Given the description of an element on the screen output the (x, y) to click on. 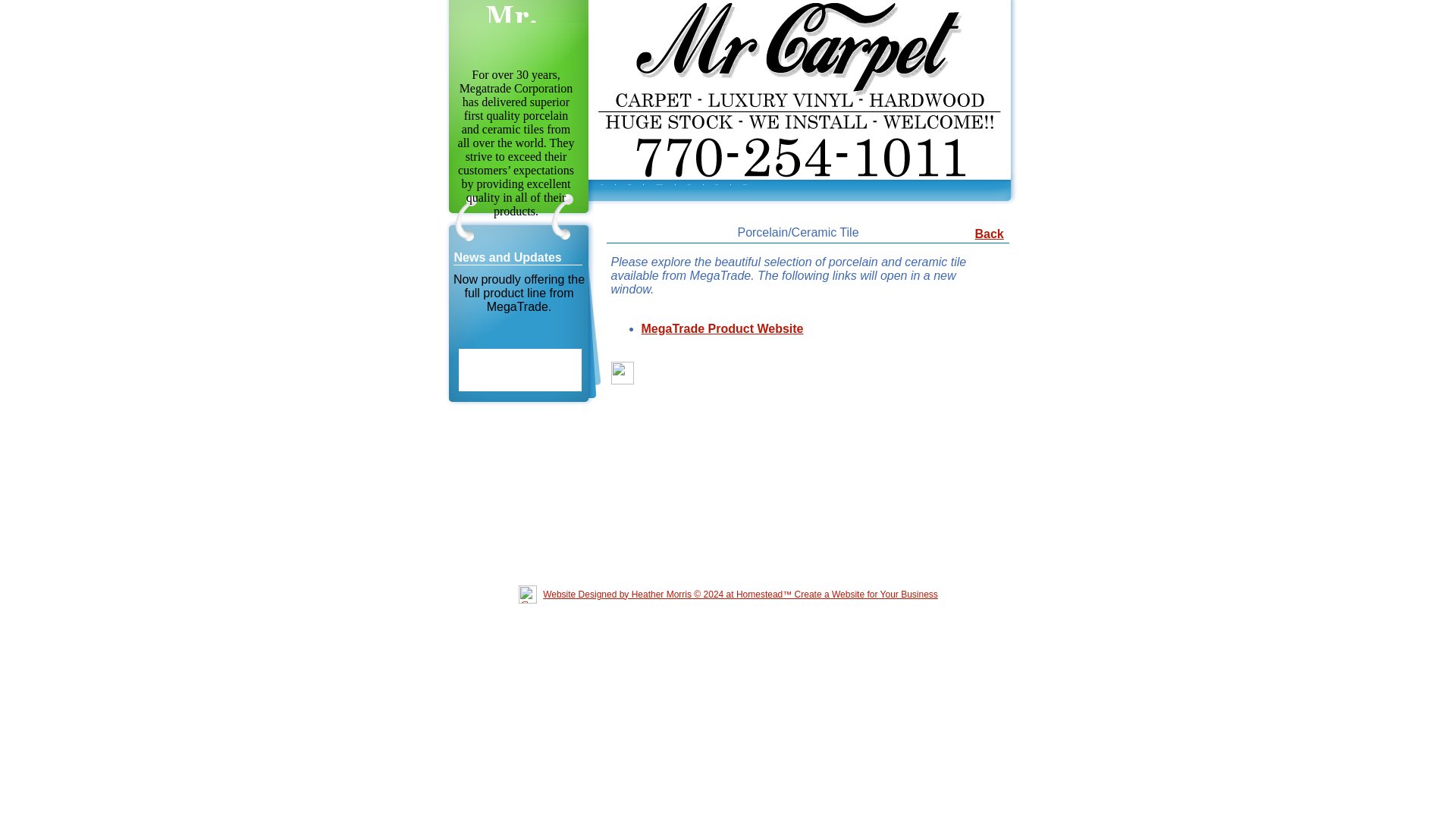
for Your Business (900, 593)
Back (989, 233)
MegaTrade Product Website (722, 328)
